Given the description of an element on the screen output the (x, y) to click on. 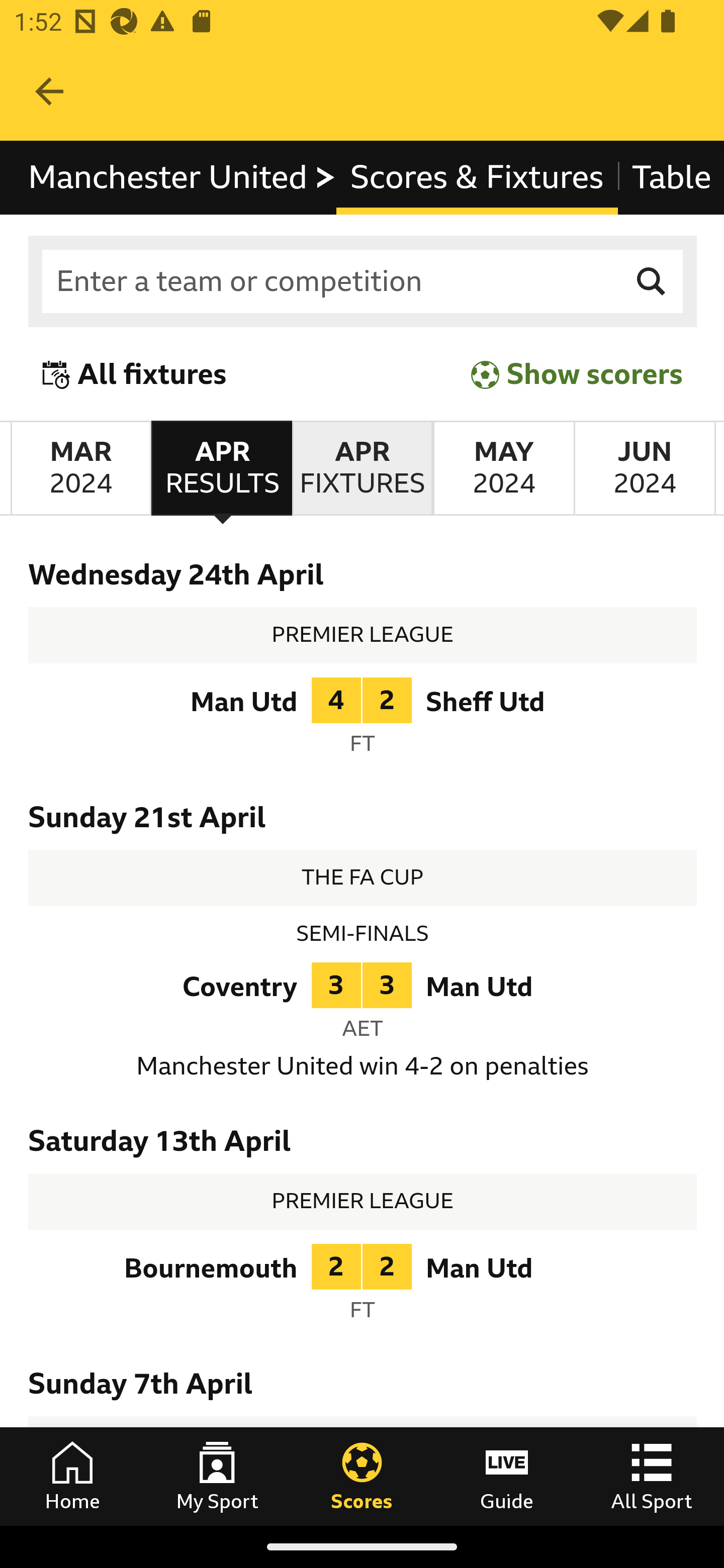
Navigate up (49, 91)
Manchester United  (183, 177)
Scores & Fixtures (476, 177)
Table (670, 177)
Search (651, 282)
All fixtures (134, 374)
Show scorers (576, 374)
March2024 March 2024 (80, 468)
AprilRESULTS, Selected April RESULTS , Selected (221, 468)
AprilFIXTURES April FIXTURES (361, 468)
May2024 May 2024 (502, 468)
June2024 June 2024 (644, 468)
Home (72, 1475)
My Sport (216, 1475)
Guide (506, 1475)
All Sport (651, 1475)
